Given the description of an element on the screen output the (x, y) to click on. 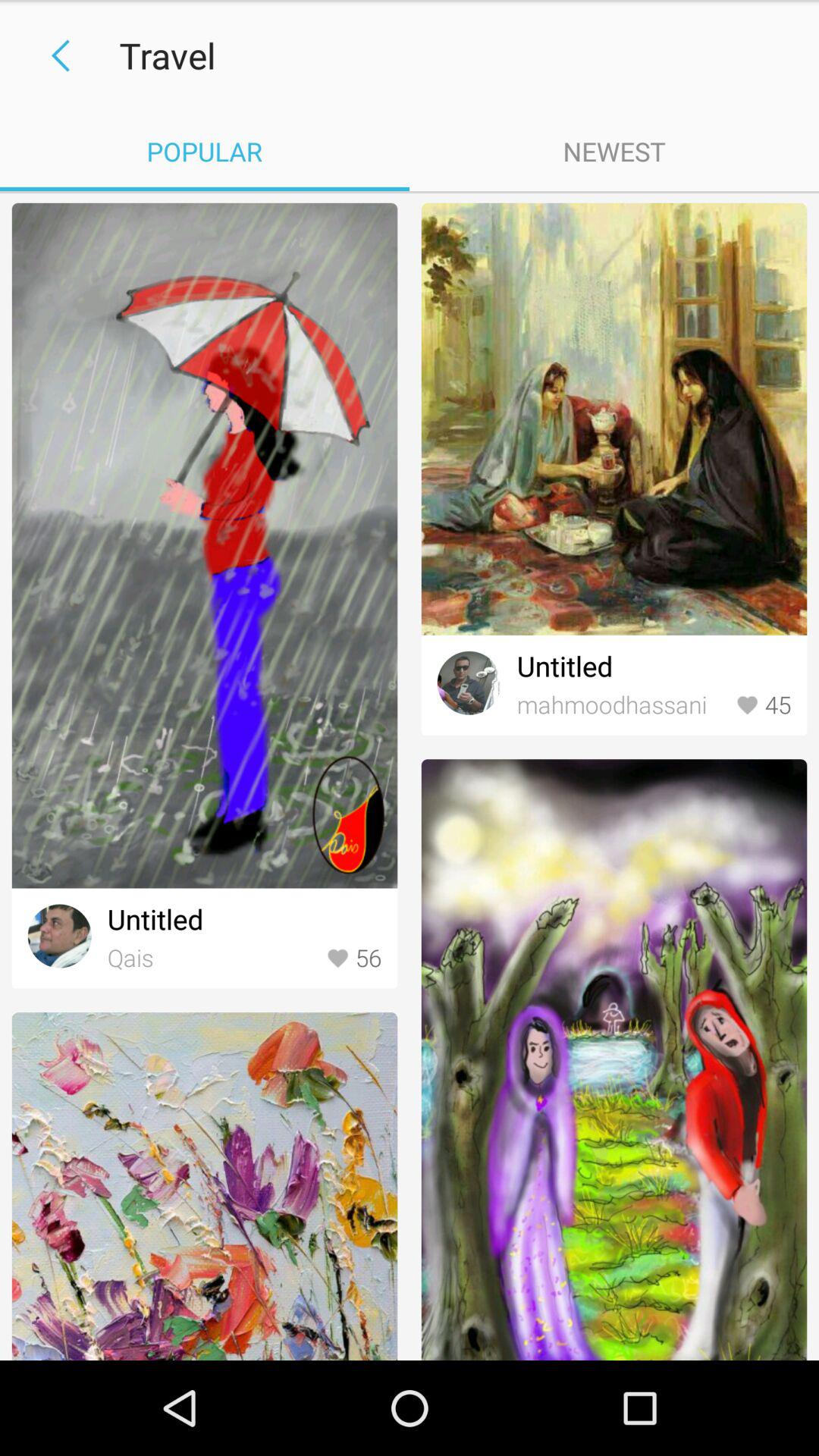
select item to the left of 45 (622, 705)
